Given the description of an element on the screen output the (x, y) to click on. 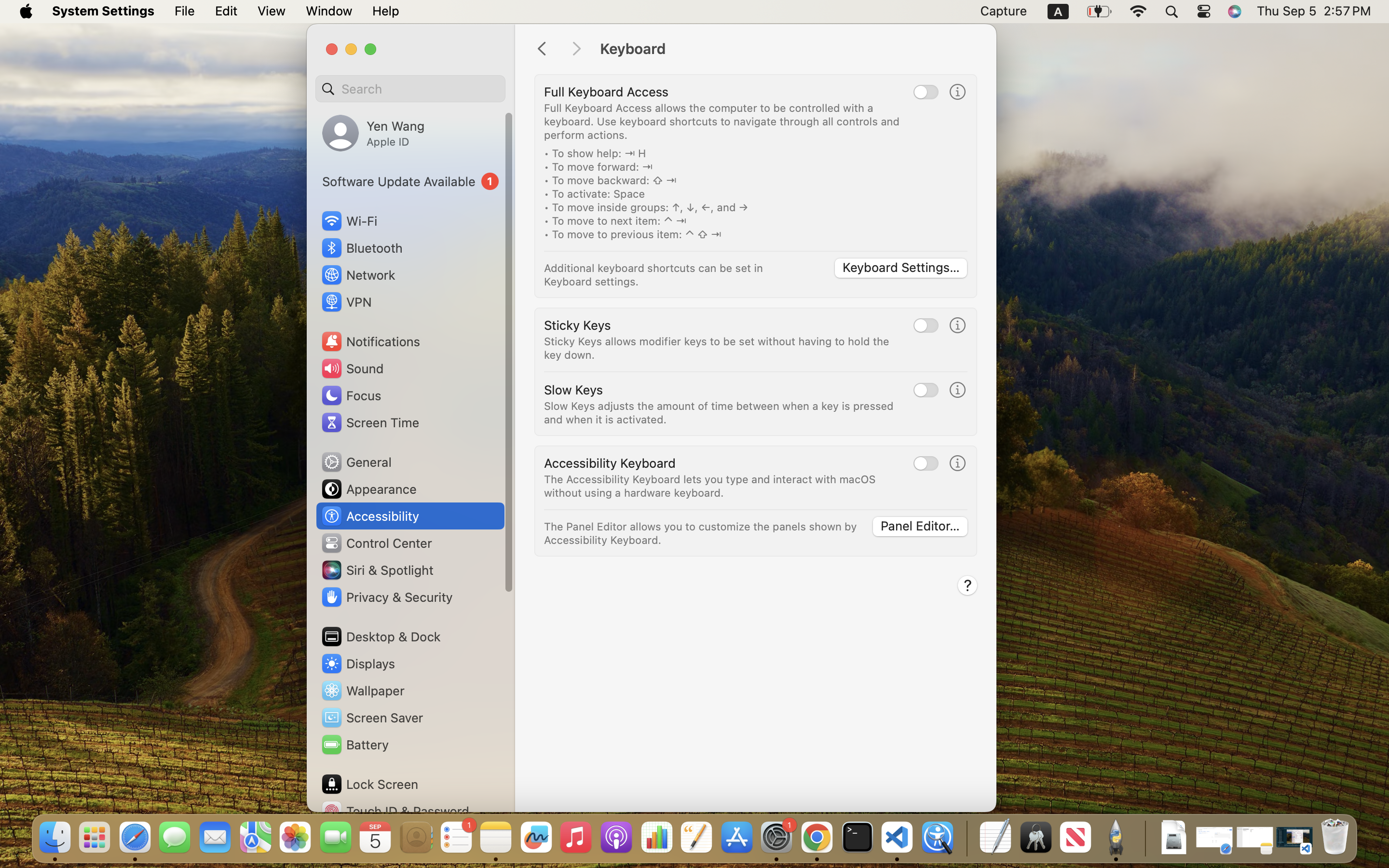
Accessibility Element type: AXStaticText (369, 515)
Sticky Keys Element type: AXStaticText (577, 324)
Network Element type: AXStaticText (357, 274)
Screen Saver Element type: AXStaticText (371, 717)
Full Keyboard Access Element type: AXStaticText (606, 91)
